Given the description of an element on the screen output the (x, y) to click on. 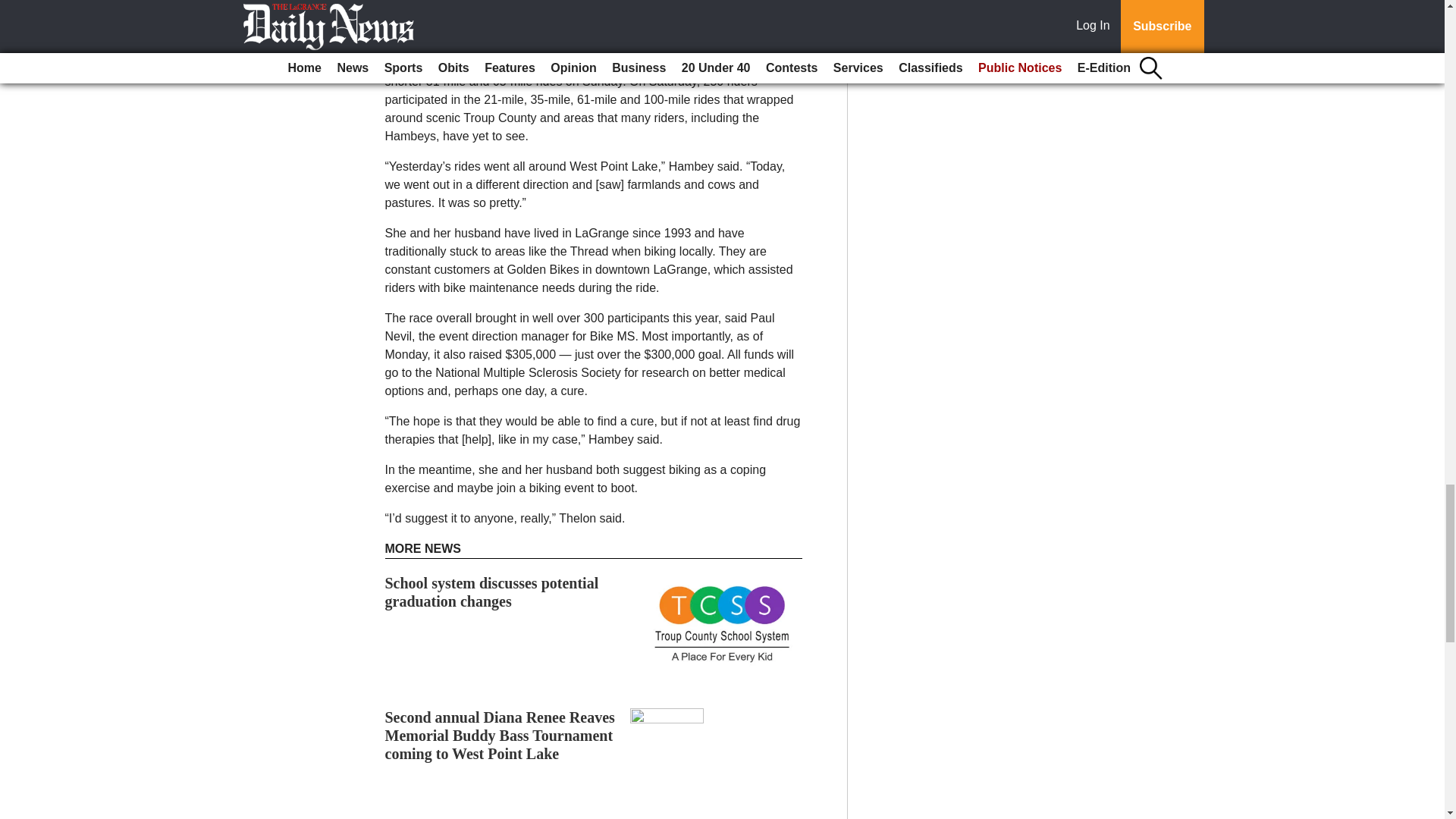
School system discusses potential graduation changes (491, 591)
School system discusses potential graduation changes (491, 591)
